Given the description of an element on the screen output the (x, y) to click on. 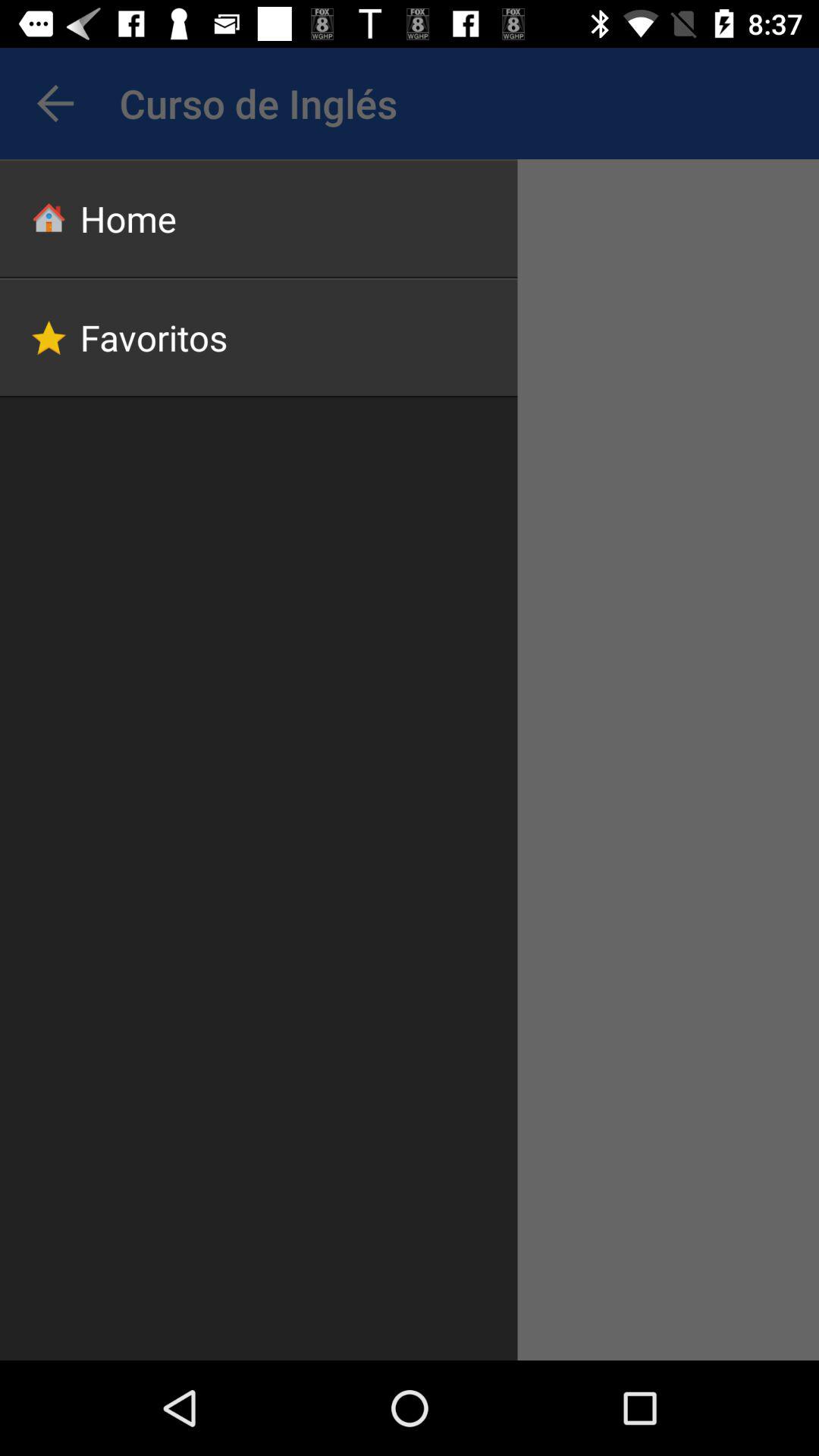
press icon at the center (403, 753)
